Given the description of an element on the screen output the (x, y) to click on. 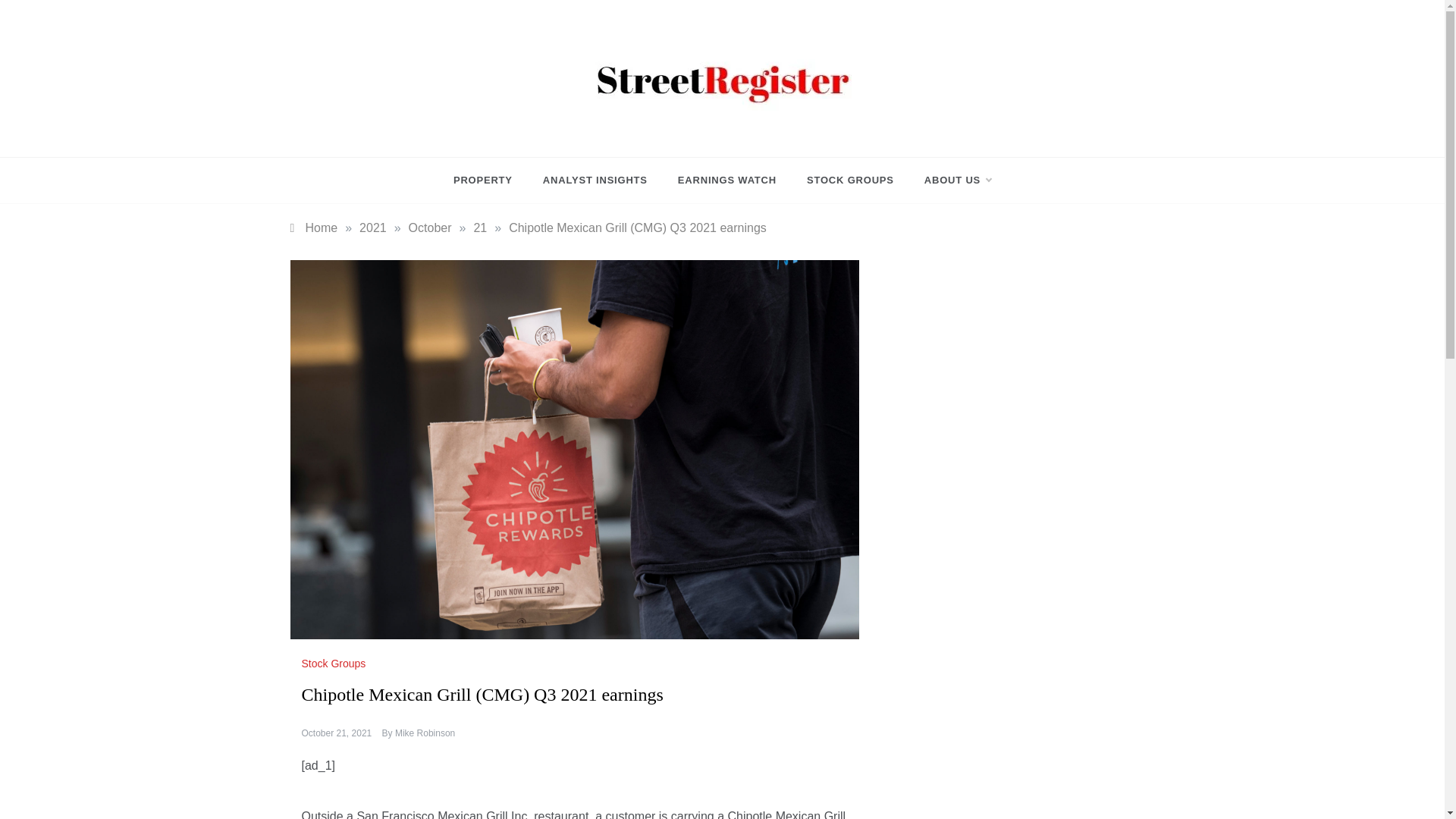
October (430, 227)
Home (313, 227)
2021 (373, 227)
EARNINGS WATCH (727, 180)
ANALYST INSIGHTS (594, 180)
Stock Groups (335, 663)
STOCK GROUPS (850, 180)
ABOUT US (949, 180)
October 21, 2021 (336, 733)
PROPERTY (489, 180)
